Given the description of an element on the screen output the (x, y) to click on. 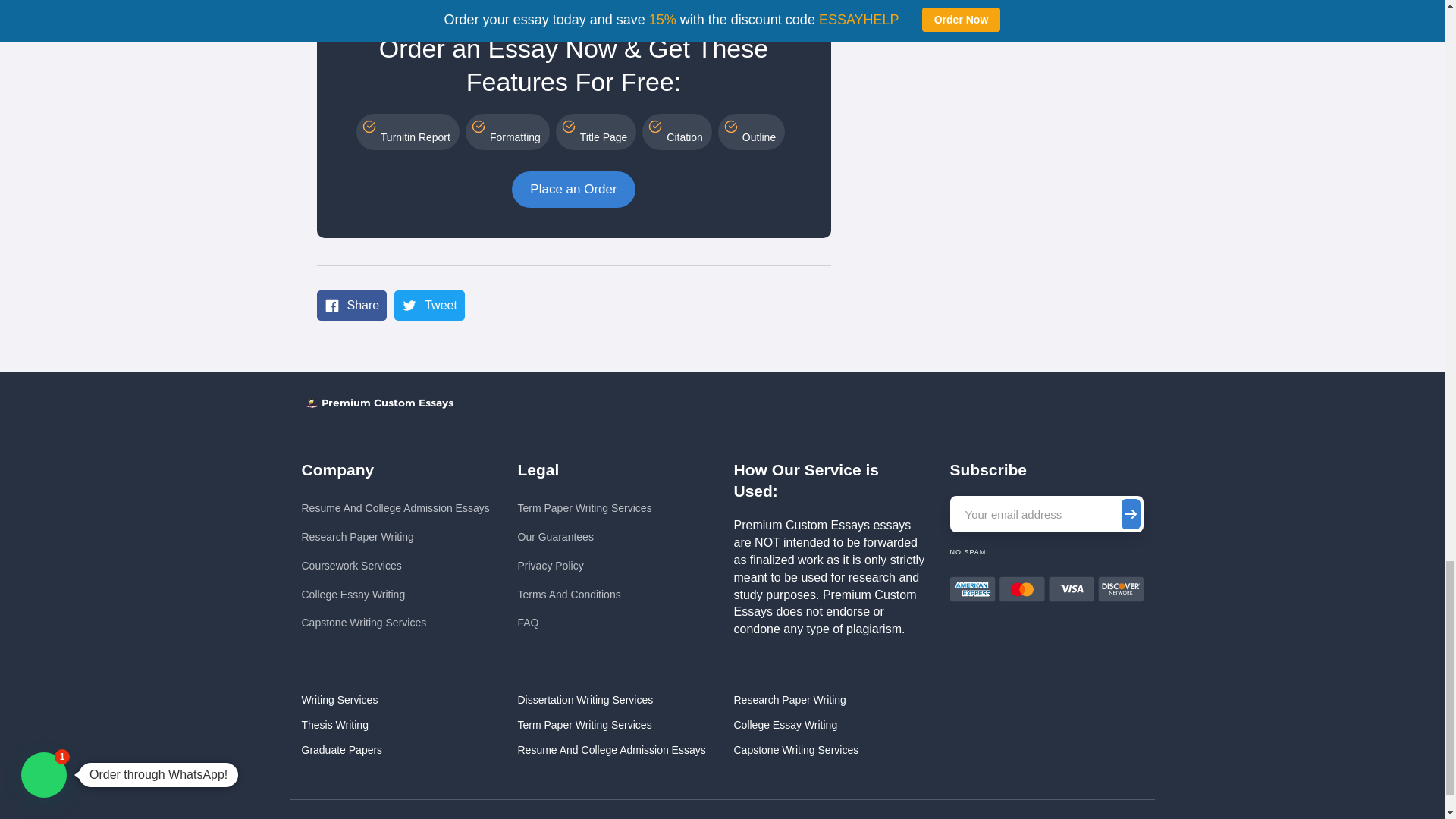
Resume And College Admission Essays (395, 508)
Coursework Services (395, 565)
Our Guarantees (583, 536)
Term Paper Writing Services (583, 508)
Research Paper Writing (395, 536)
Capstone Writing Services (395, 622)
College Essay Writing (395, 594)
Place an Order (573, 189)
Tweet (429, 305)
Share (352, 305)
